Given the description of an element on the screen output the (x, y) to click on. 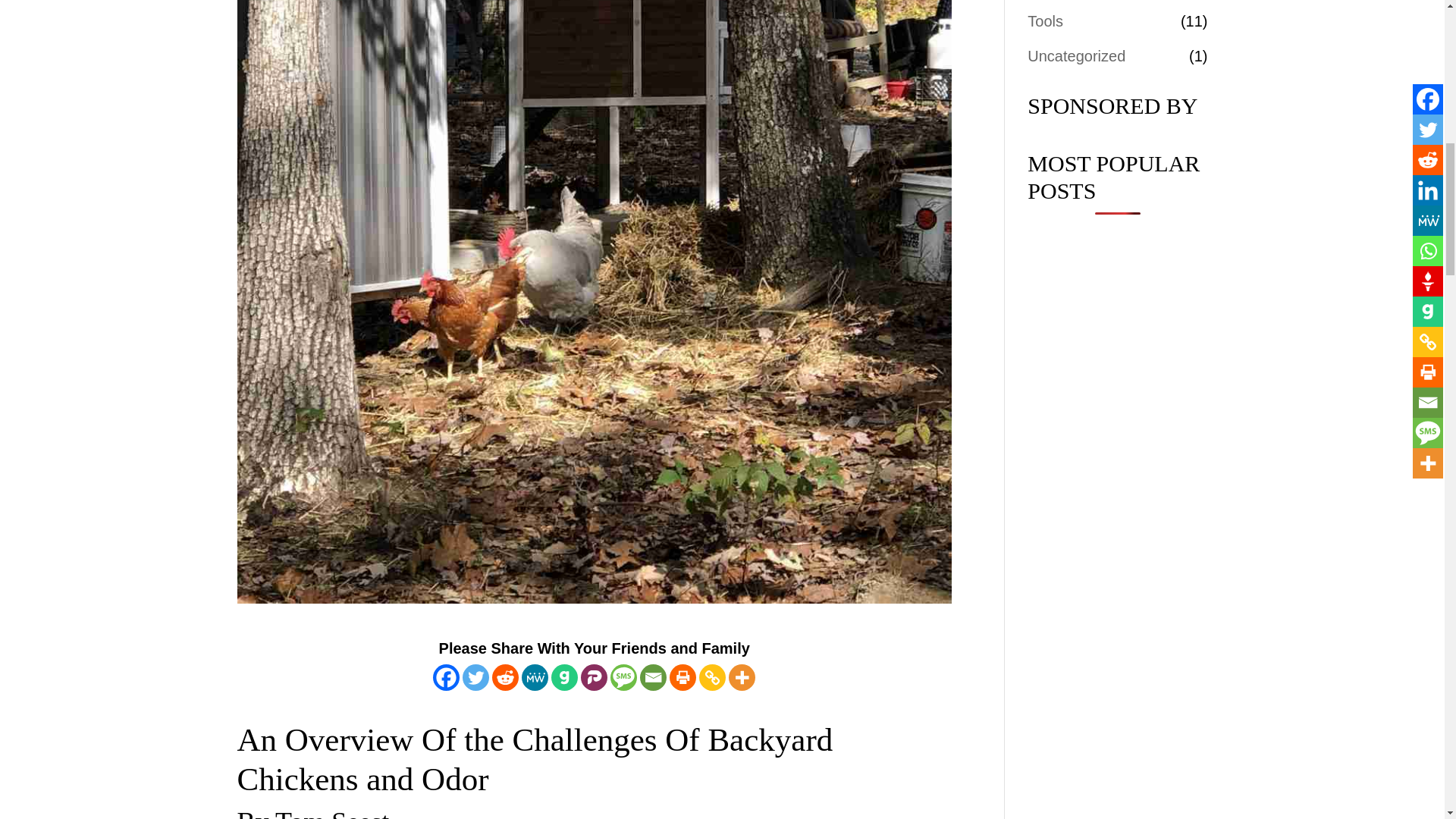
MeWe (534, 677)
Twitter (476, 677)
Gab (564, 677)
Tom Seest (331, 812)
Reddit (505, 677)
Facebook (446, 677)
